Given the description of an element on the screen output the (x, y) to click on. 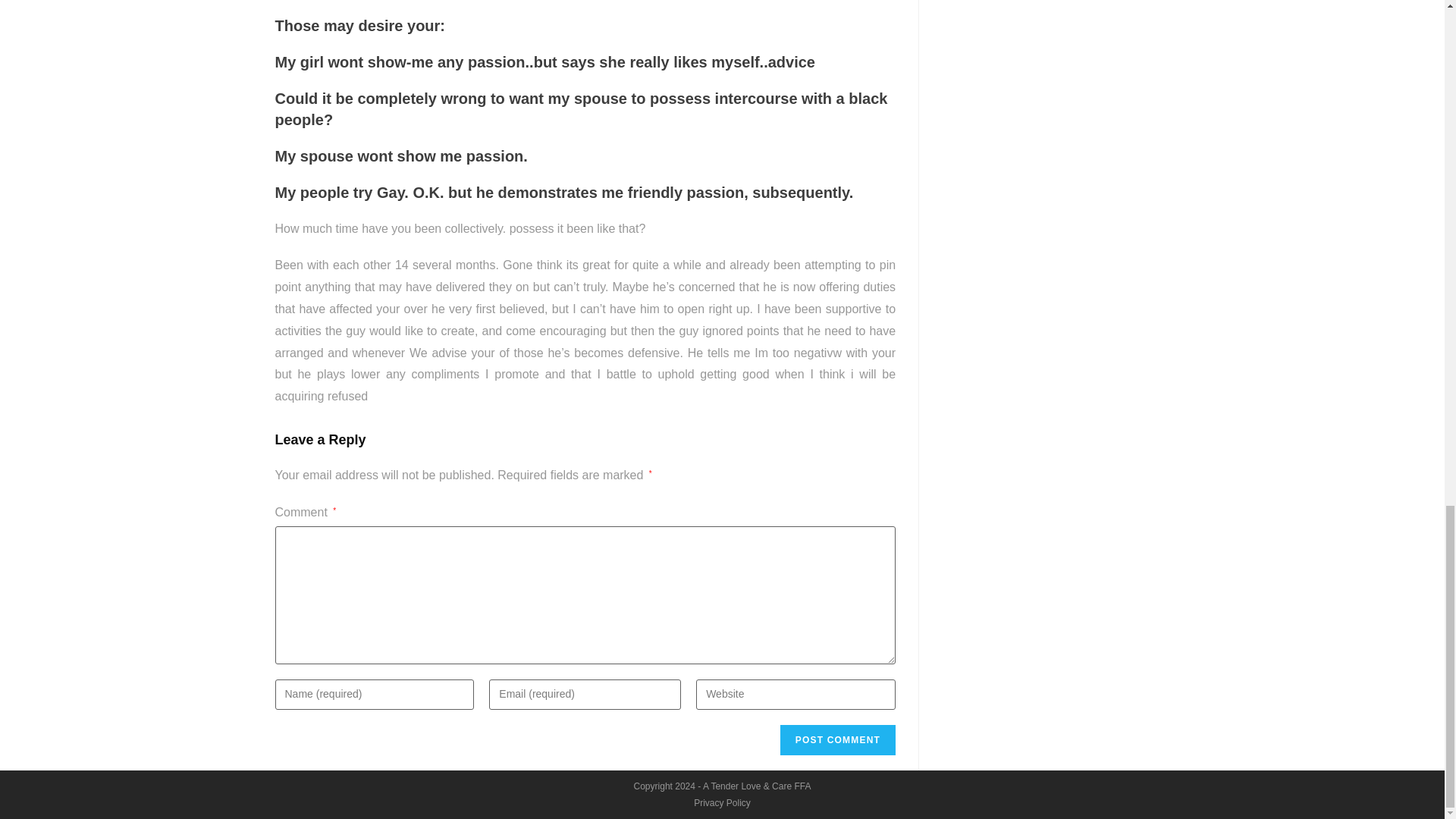
Post Comment (837, 739)
Post Comment (837, 739)
Privacy Policy (722, 802)
